Given the description of an element on the screen output the (x, y) to click on. 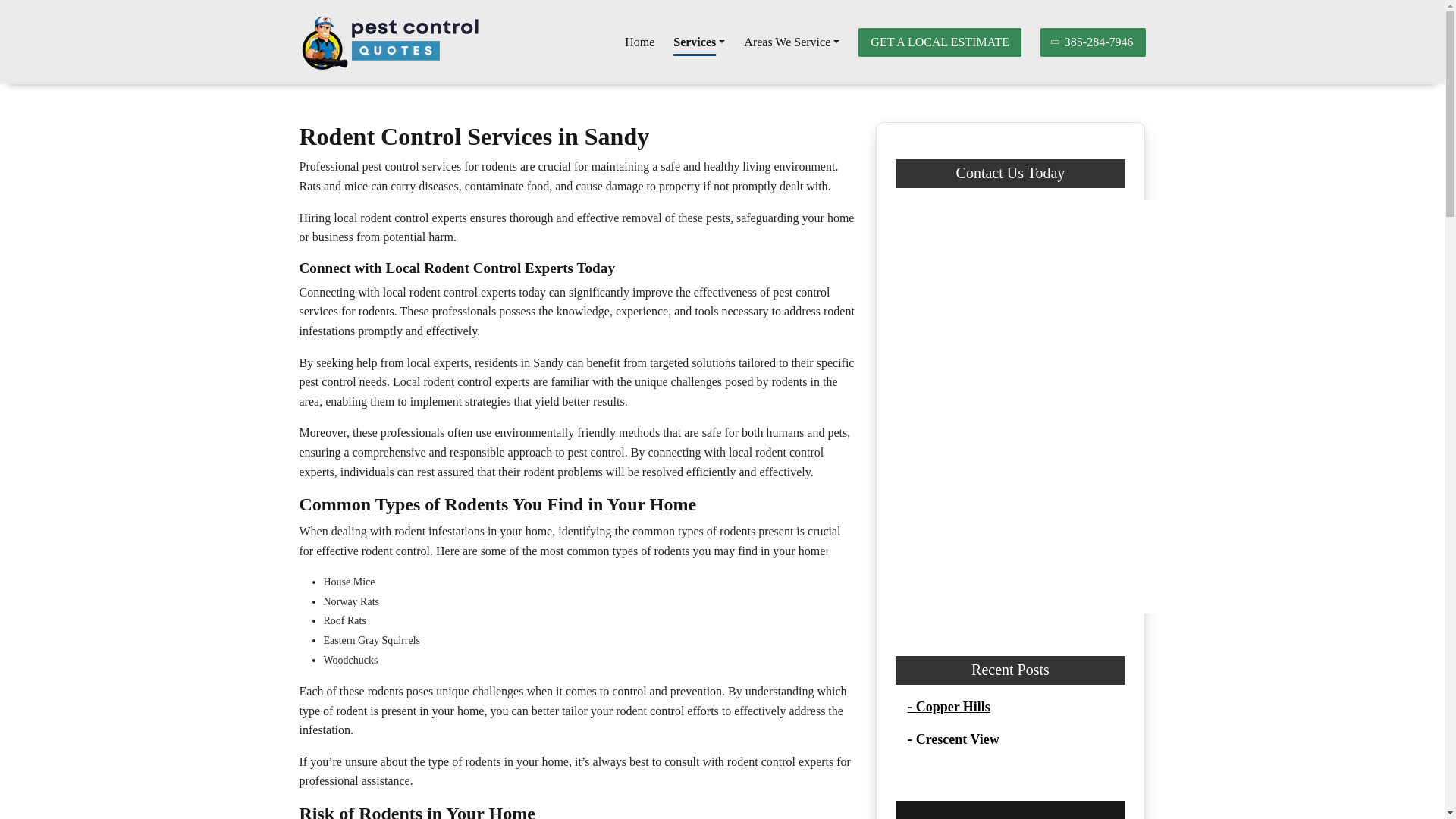
Home (638, 42)
Areas We Service (792, 42)
Services (698, 42)
- Copper Hills (948, 706)
Home (638, 42)
GET A LOCAL ESTIMATE (940, 41)
385-284-7946 (1093, 41)
- Crescent View (952, 739)
Services (698, 42)
Areas We Service (792, 42)
